Given the description of an element on the screen output the (x, y) to click on. 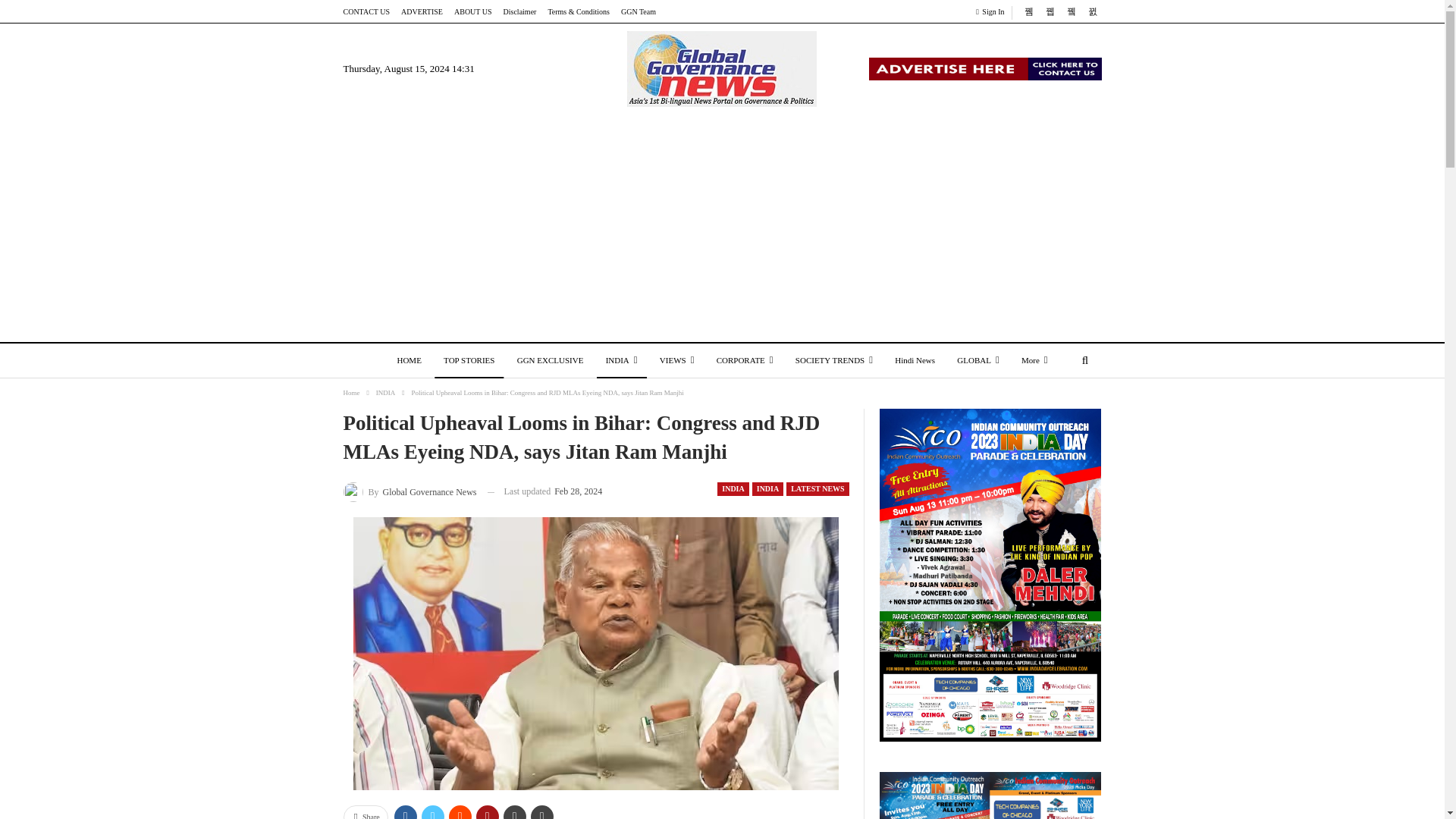
ABOUT US (473, 11)
Disclaimer (520, 11)
GGN Team (638, 11)
Sign In (992, 11)
TOP STORIES (468, 361)
HOME (408, 361)
ADVERTISE (421, 11)
CONTACT US (366, 11)
VIEWS (676, 361)
GGN EXCLUSIVE (550, 361)
